Given the description of an element on the screen output the (x, y) to click on. 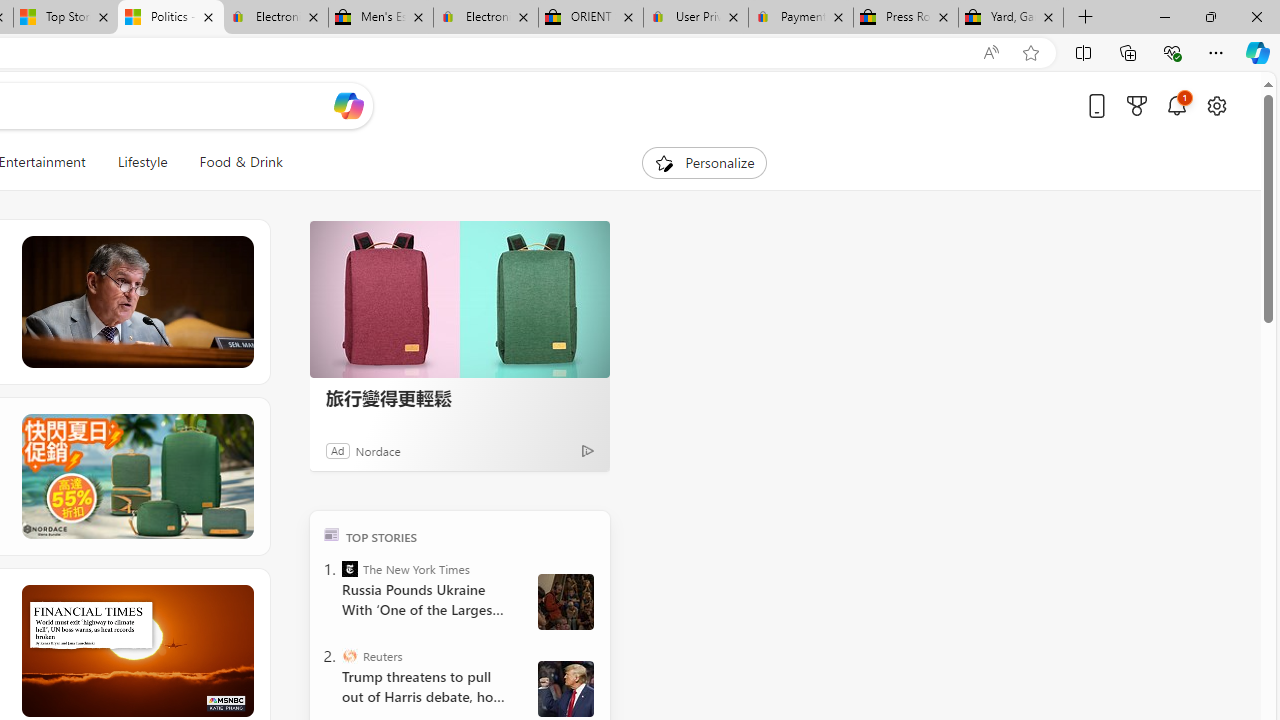
Class: hero-image (136, 650)
TOP (331, 534)
The New York Times (349, 568)
